Given the description of an element on the screen output the (x, y) to click on. 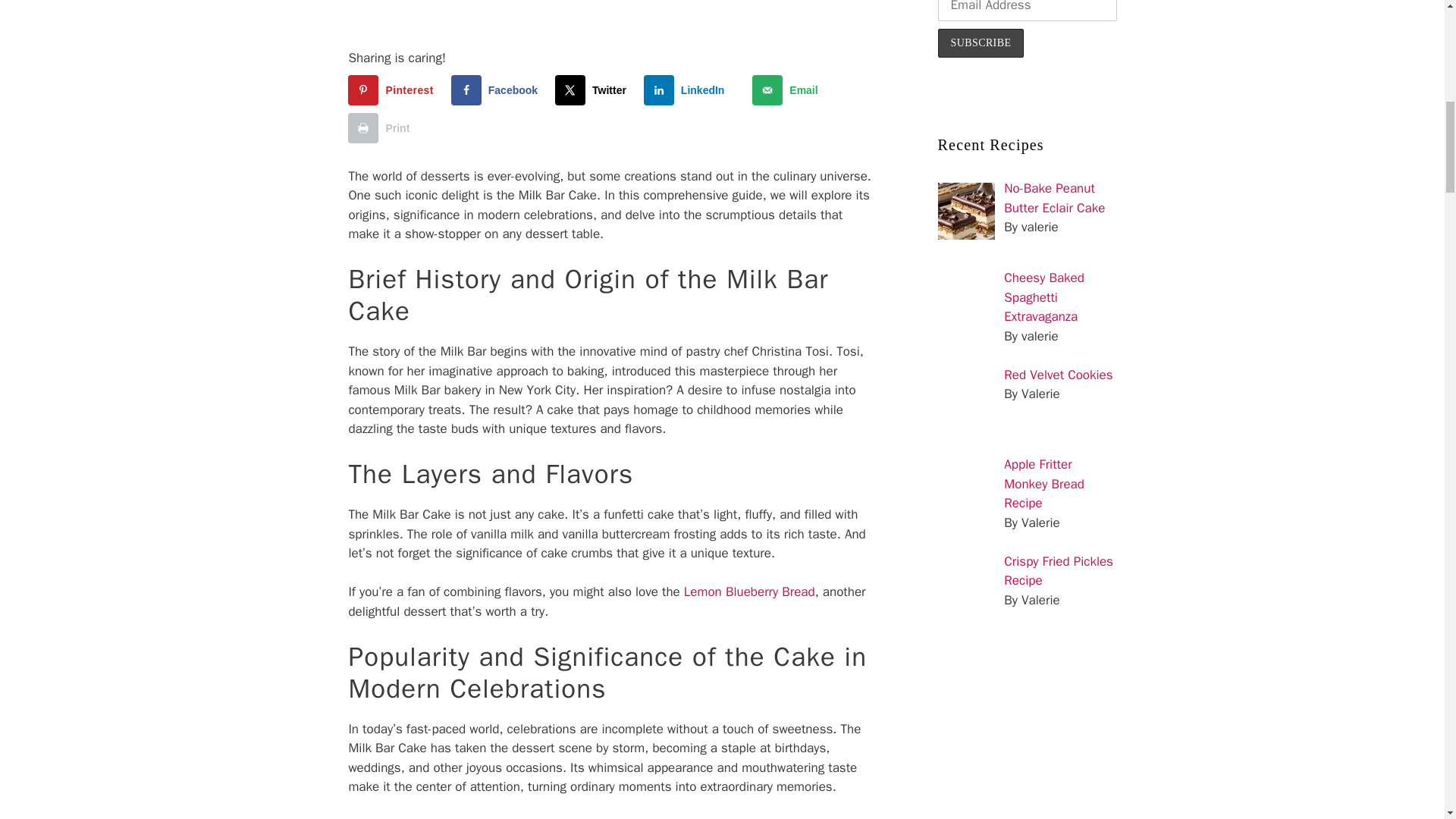
Twitter (593, 90)
Pinterest (393, 90)
Email (788, 90)
Send over email (788, 90)
Print (381, 128)
Share on X (593, 90)
Save to Pinterest (393, 90)
Lemon Blueberry Bread (749, 591)
Subscribe (981, 42)
Share on Facebook (497, 90)
Facebook (497, 90)
LinkedIn (687, 90)
Share on LinkedIn (687, 90)
